Given the description of an element on the screen output the (x, y) to click on. 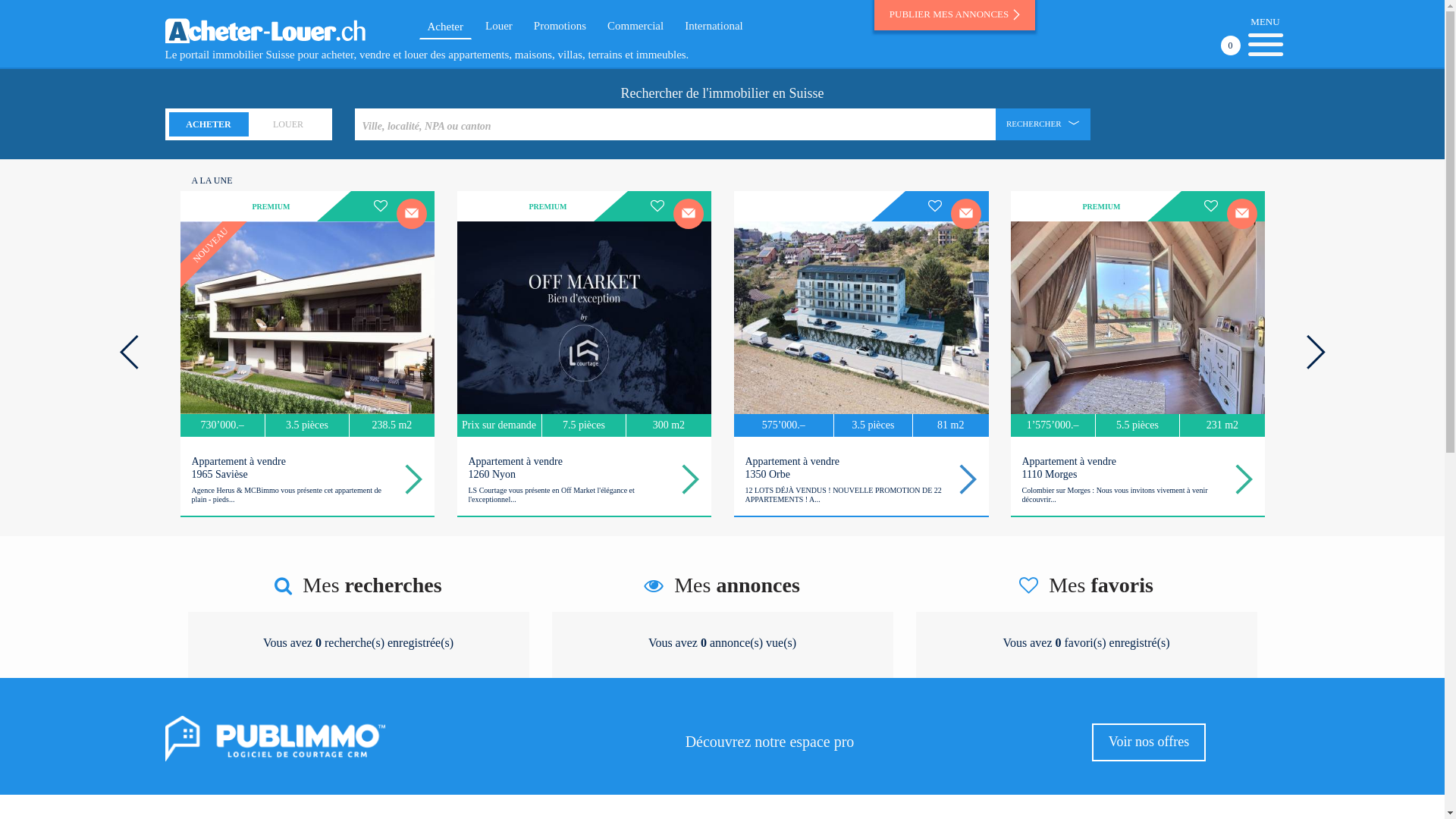
Louer Element type: text (498, 26)
Acheter Element type: text (444, 27)
Voir nos offres Element type: text (1148, 742)
helveticimo Element type: hover (1040, 206)
Ajouter aux favoris Element type: hover (657, 205)
International Element type: text (713, 26)
Promotions Element type: text (559, 26)
Mes annonces
Vous avez 0 annonce(s) vue(s) Element type: text (722, 626)
NOUVEAU Element type: text (307, 317)
Ajouter aux favoris Element type: hover (935, 205)
Voir nos offres Element type: text (1148, 741)
0 Element type: text (1264, 44)
Commercial Element type: text (635, 26)
lscourtage Element type: hover (486, 206)
SR Element type: hover (764, 206)
Ajouter aux favoris Element type: hover (1211, 205)
Ajouter aux favoris Element type: hover (380, 205)
mcbimmo Element type: hover (210, 206)
